Given the description of an element on the screen output the (x, y) to click on. 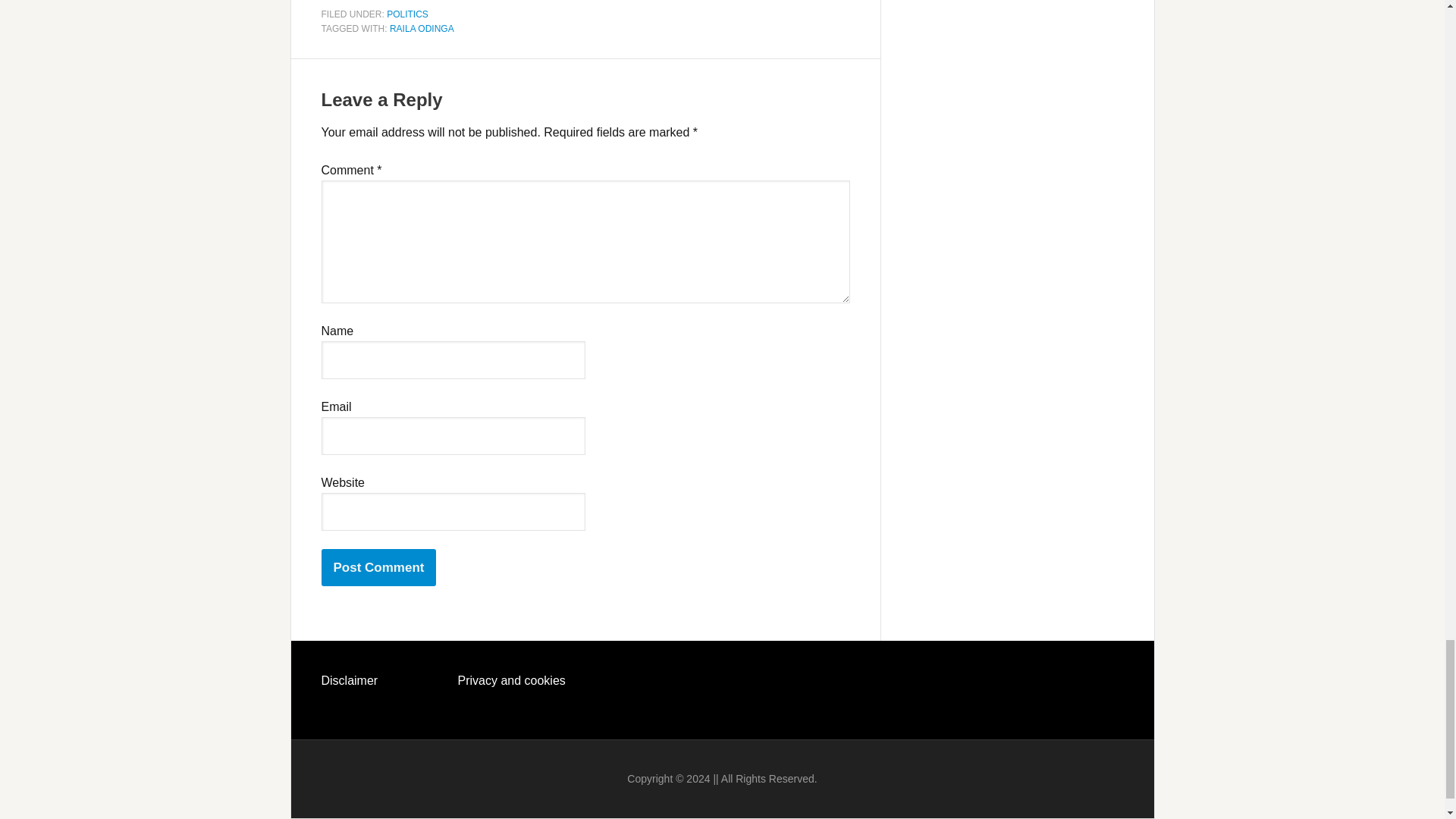
Post Comment (378, 567)
RAILA ODINGA (422, 28)
POLITICS (407, 14)
Post Comment (378, 567)
